Given the description of an element on the screen output the (x, y) to click on. 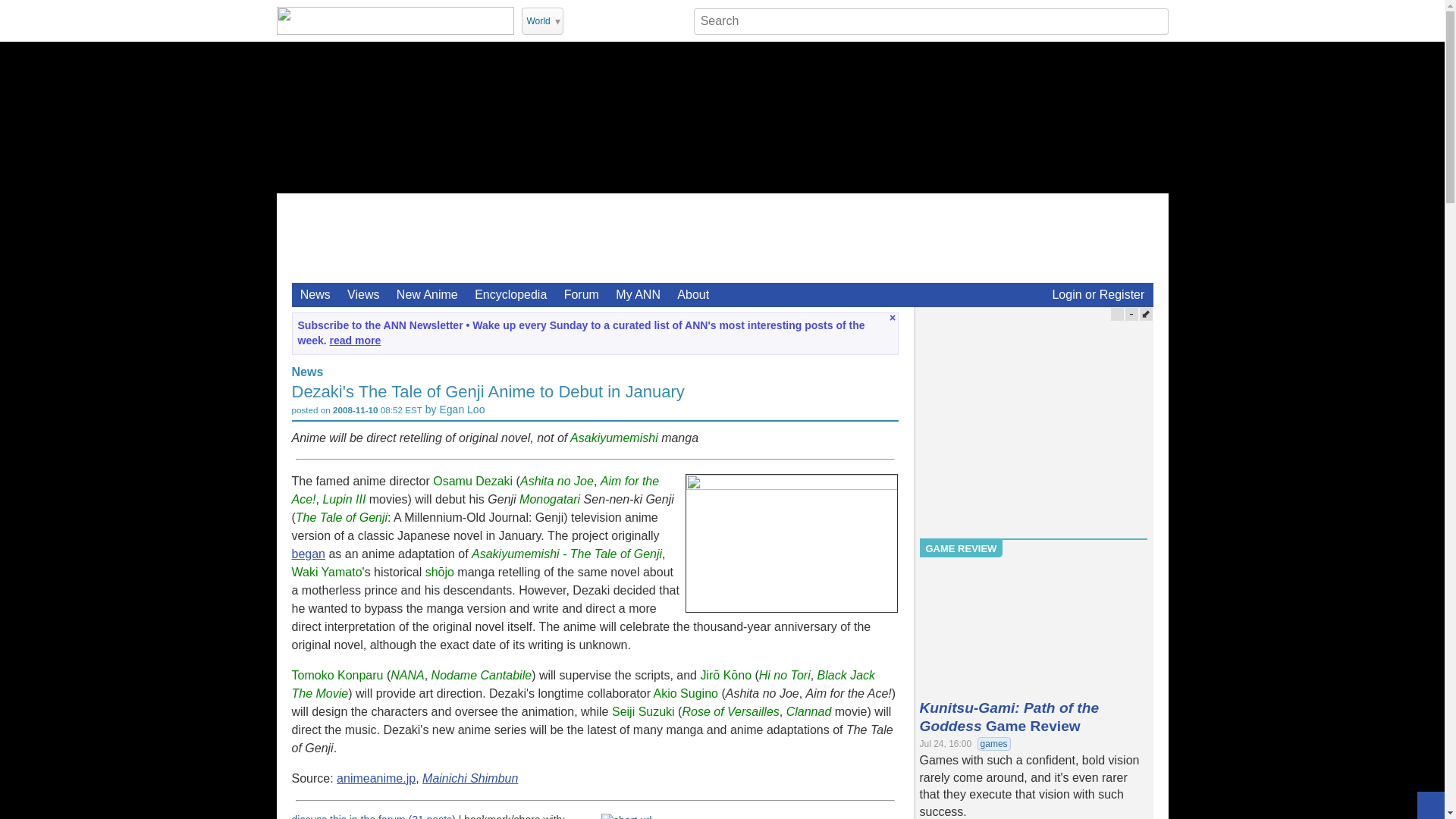
Choose Your Edition (542, 21)
TikTok (656, 20)
Youtube (597, 20)
Facebook (617, 20)
Twitter (577, 20)
Instagram (636, 20)
Bluesky (675, 20)
Return to Homepage (394, 20)
